Given the description of an element on the screen output the (x, y) to click on. 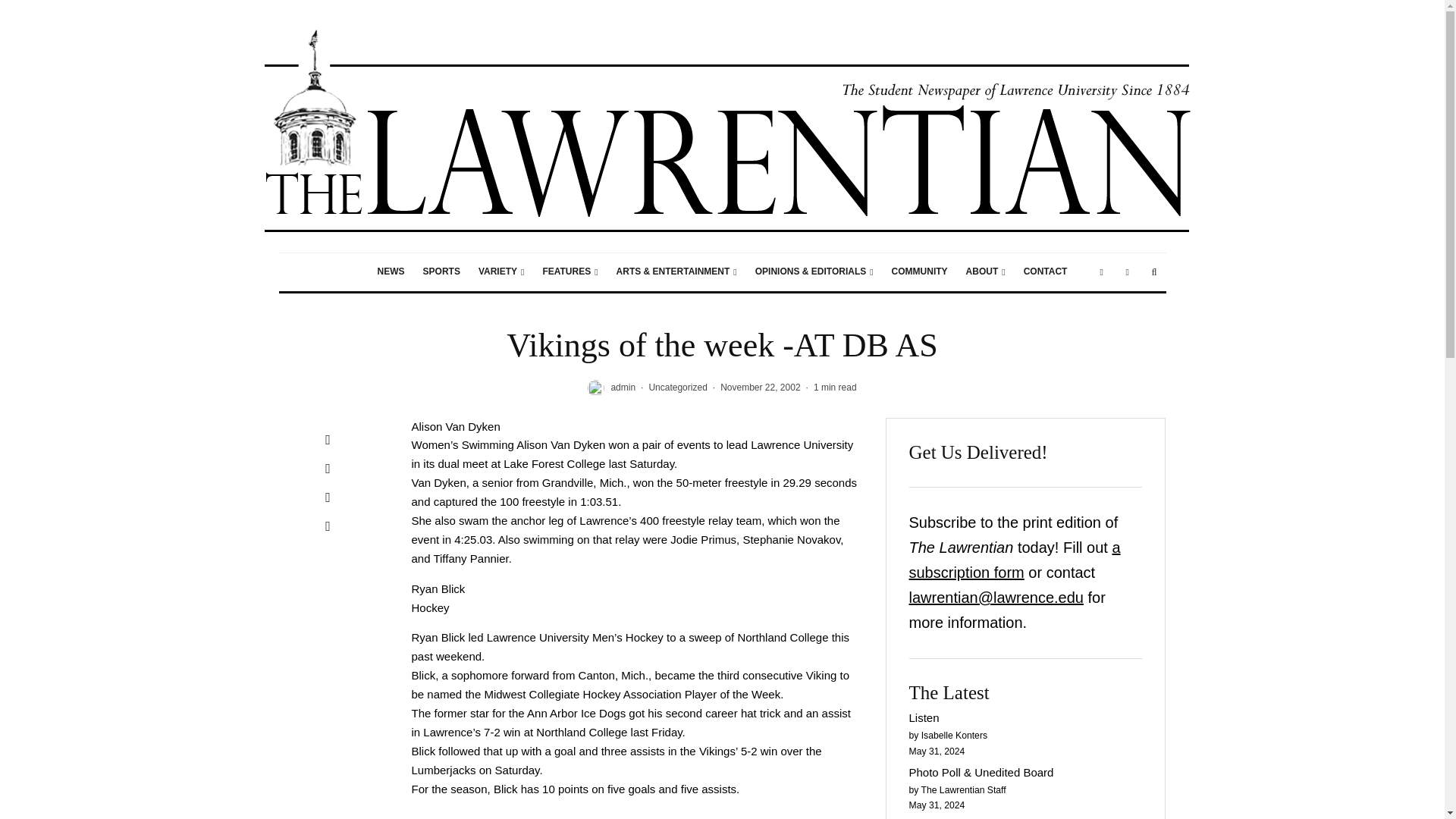
Posts by admin (622, 387)
FEATURES (569, 272)
VARIETY (501, 272)
SPORTS (440, 272)
NEWS (390, 272)
